Given the description of an element on the screen output the (x, y) to click on. 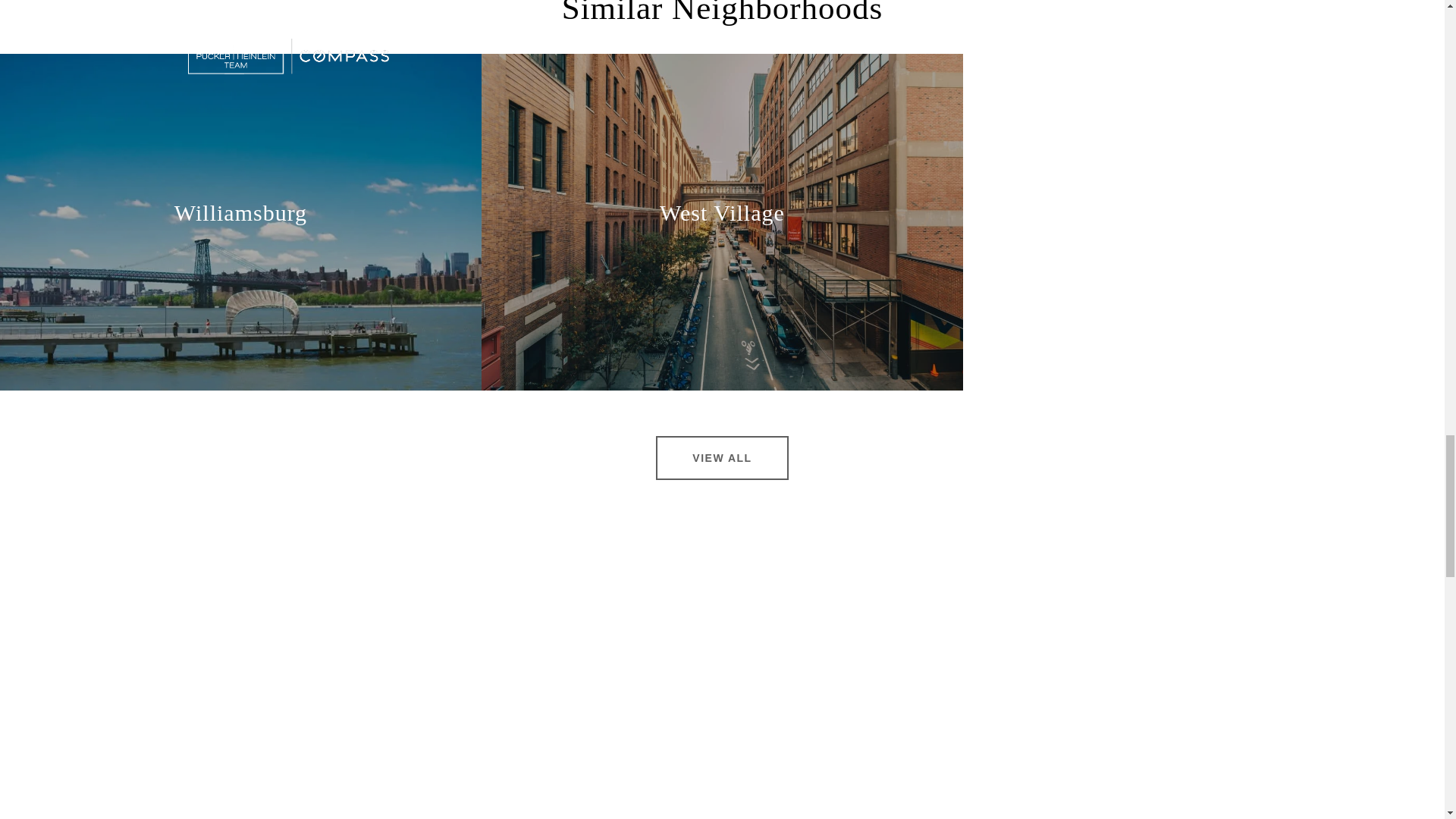
VIEW ALL (721, 457)
